Given the description of an element on the screen output the (x, y) to click on. 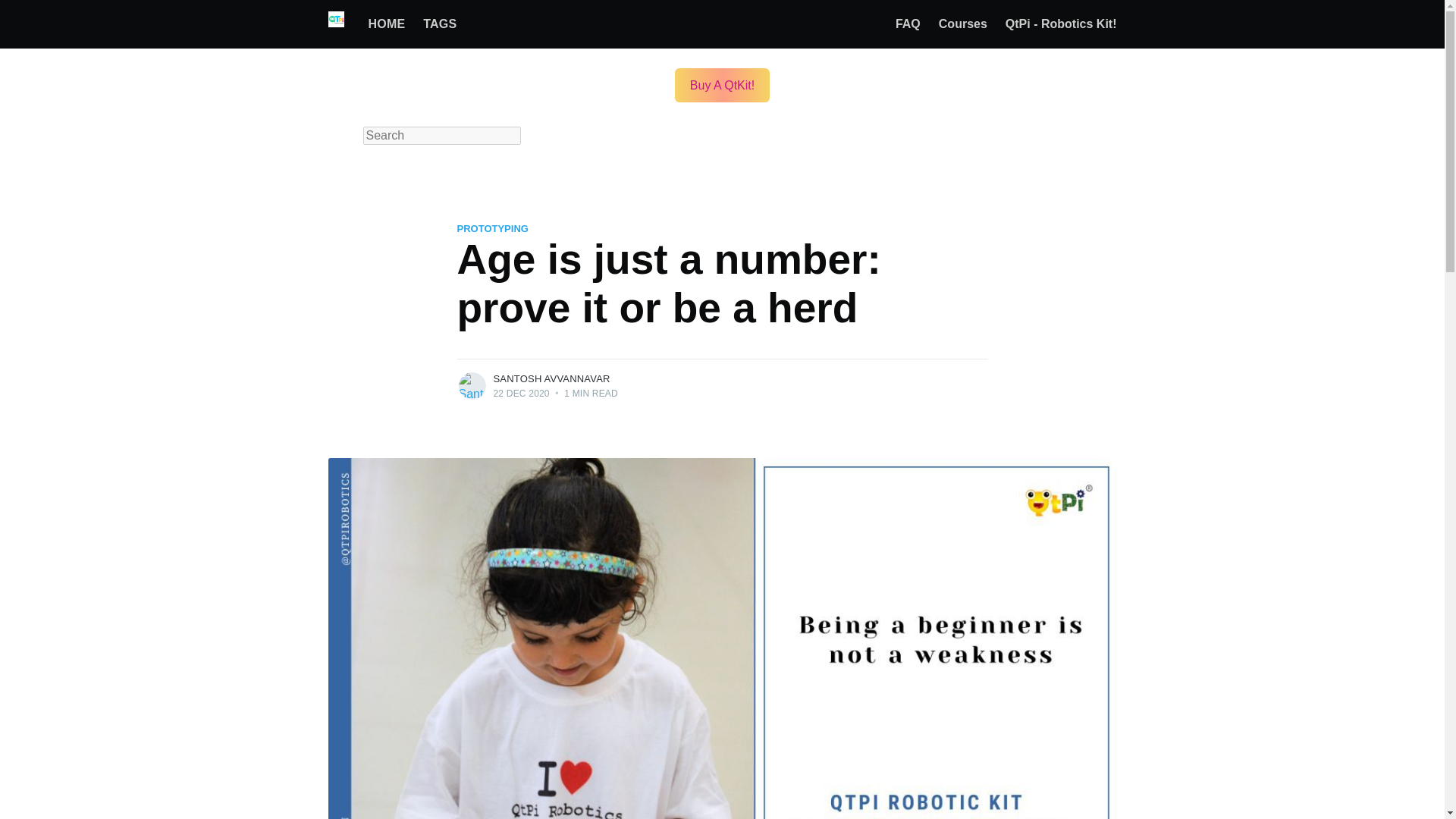
SANTOSH AVVANNAVAR (551, 378)
Buy A QtKit! (722, 85)
Courses (962, 24)
HOME (386, 24)
TAGS (439, 24)
PROTOTYPING (492, 228)
FAQ (908, 24)
QtPi - Robotics Kit! (1060, 24)
